Given the description of an element on the screen output the (x, y) to click on. 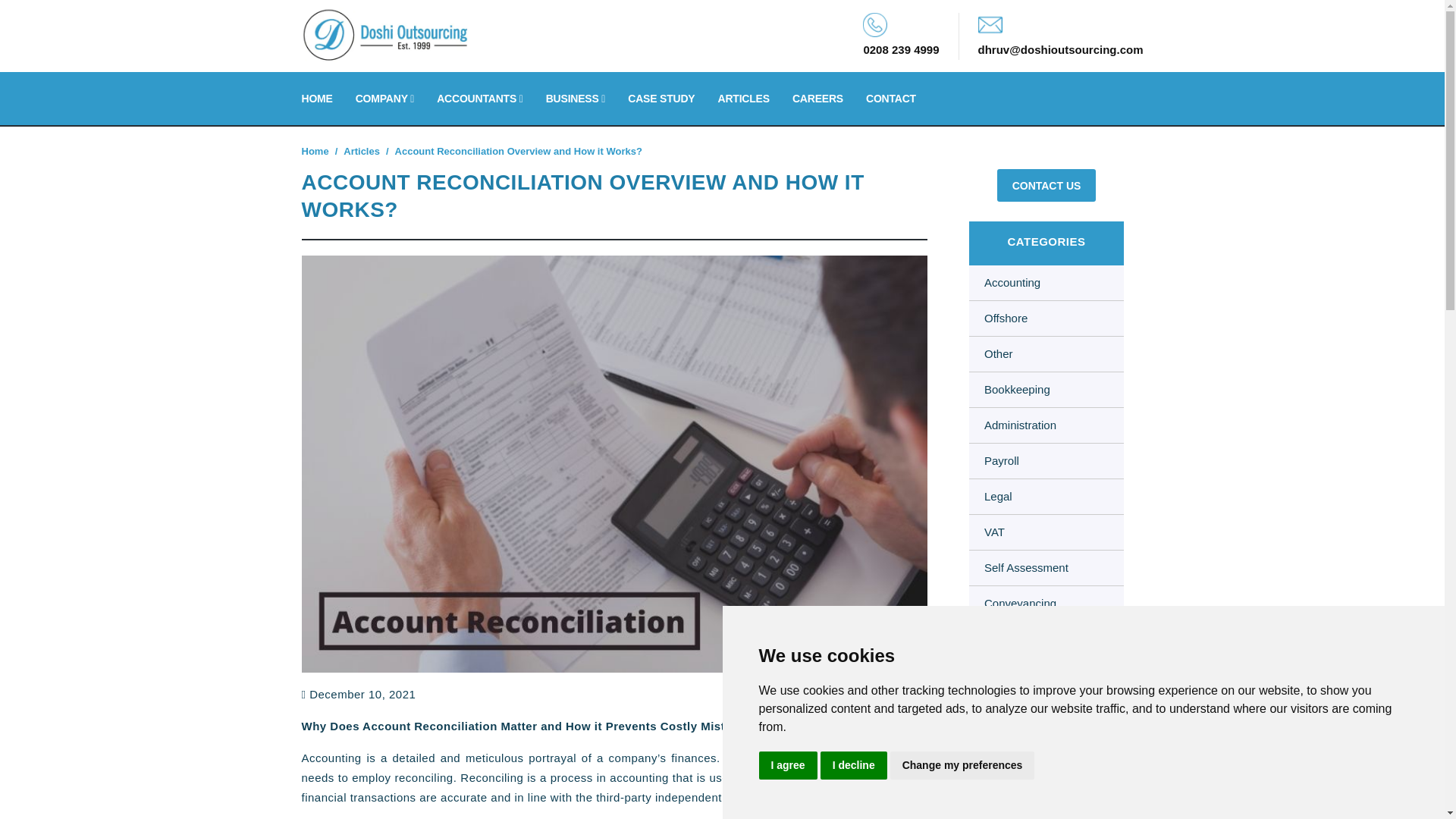
COMPANY (384, 98)
0208 239 4999 (901, 48)
Change my preferences (962, 765)
Follow Doshi Outsourcing on Google News (1029, 720)
ACCOUNTANTS (479, 98)
I decline (853, 765)
I agree (787, 765)
BUSINESS (575, 98)
